Given the description of an element on the screen output the (x, y) to click on. 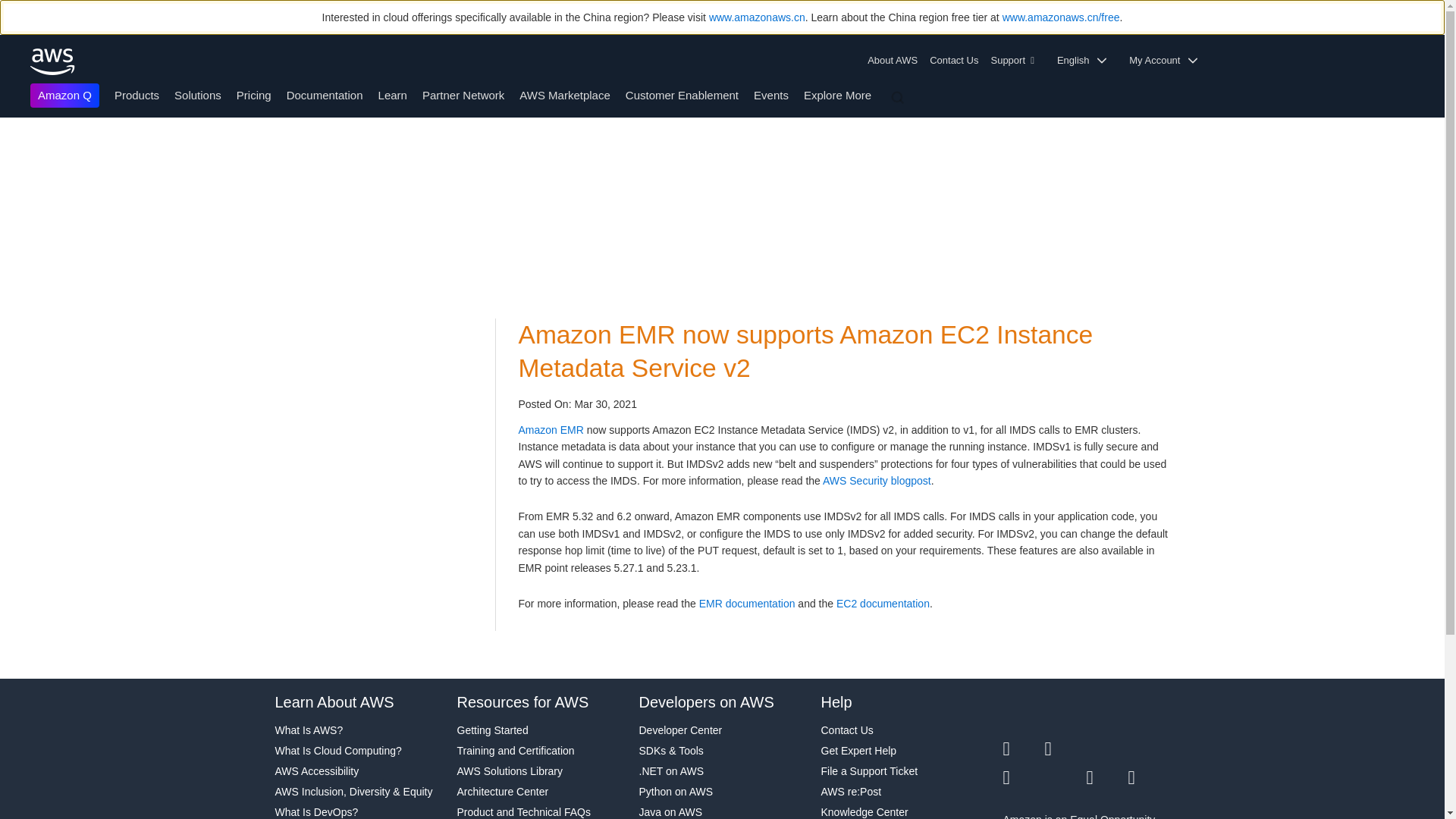
Support  (1016, 60)
Facebook (1065, 749)
Twitch (1023, 777)
About AWS (895, 60)
Solutions (197, 94)
Pricing (252, 94)
Skip to main content (7, 146)
Documentation (324, 94)
Twitter (1023, 749)
Email (1149, 777)
